Given the description of an element on the screen output the (x, y) to click on. 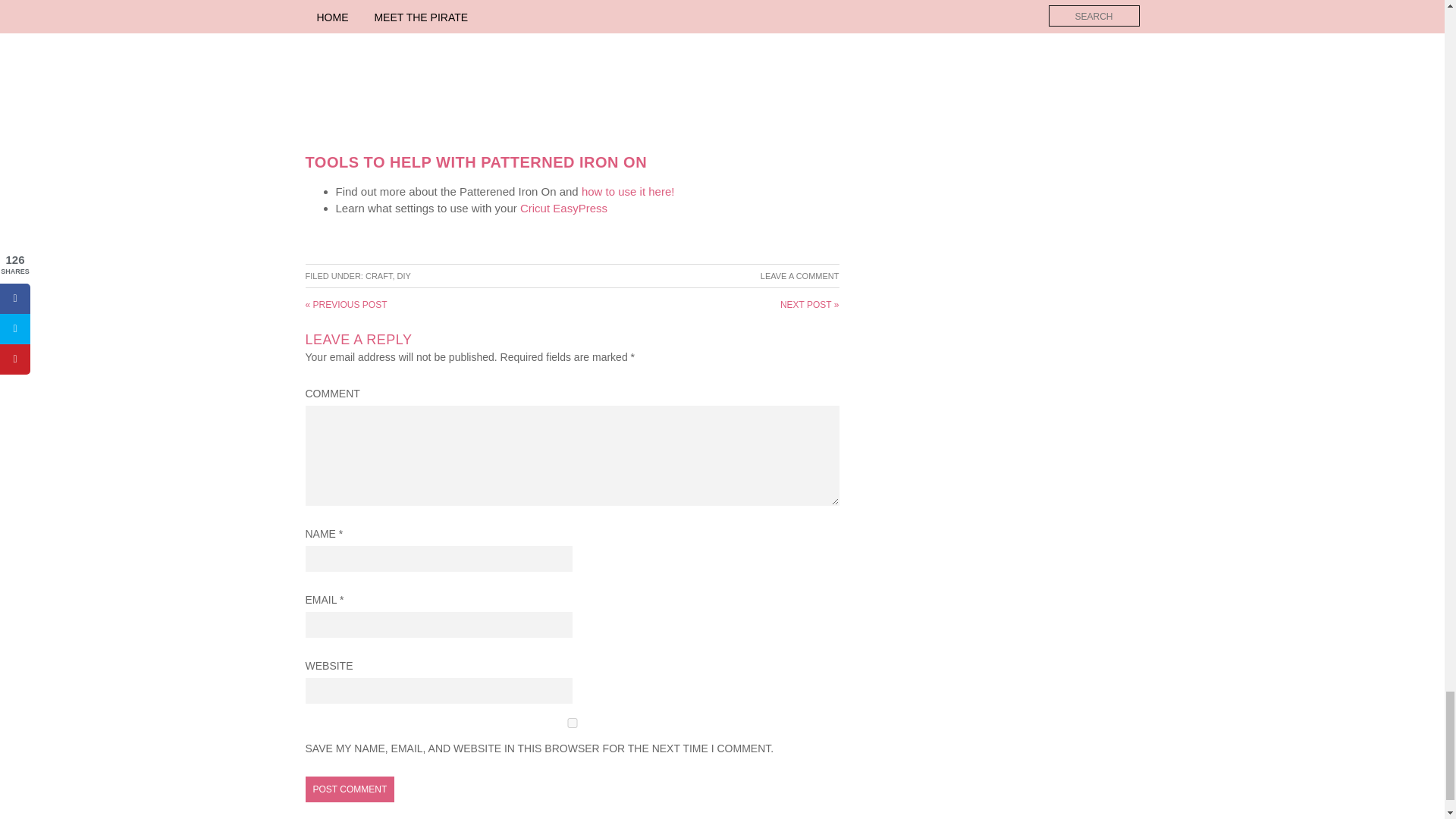
CRAFT (378, 275)
DIY (403, 275)
Post Comment (349, 789)
Cricut EasyPress (561, 207)
how to use it here! (627, 191)
LEAVE A COMMENT (800, 275)
yes (571, 723)
